Given the description of an element on the screen output the (x, y) to click on. 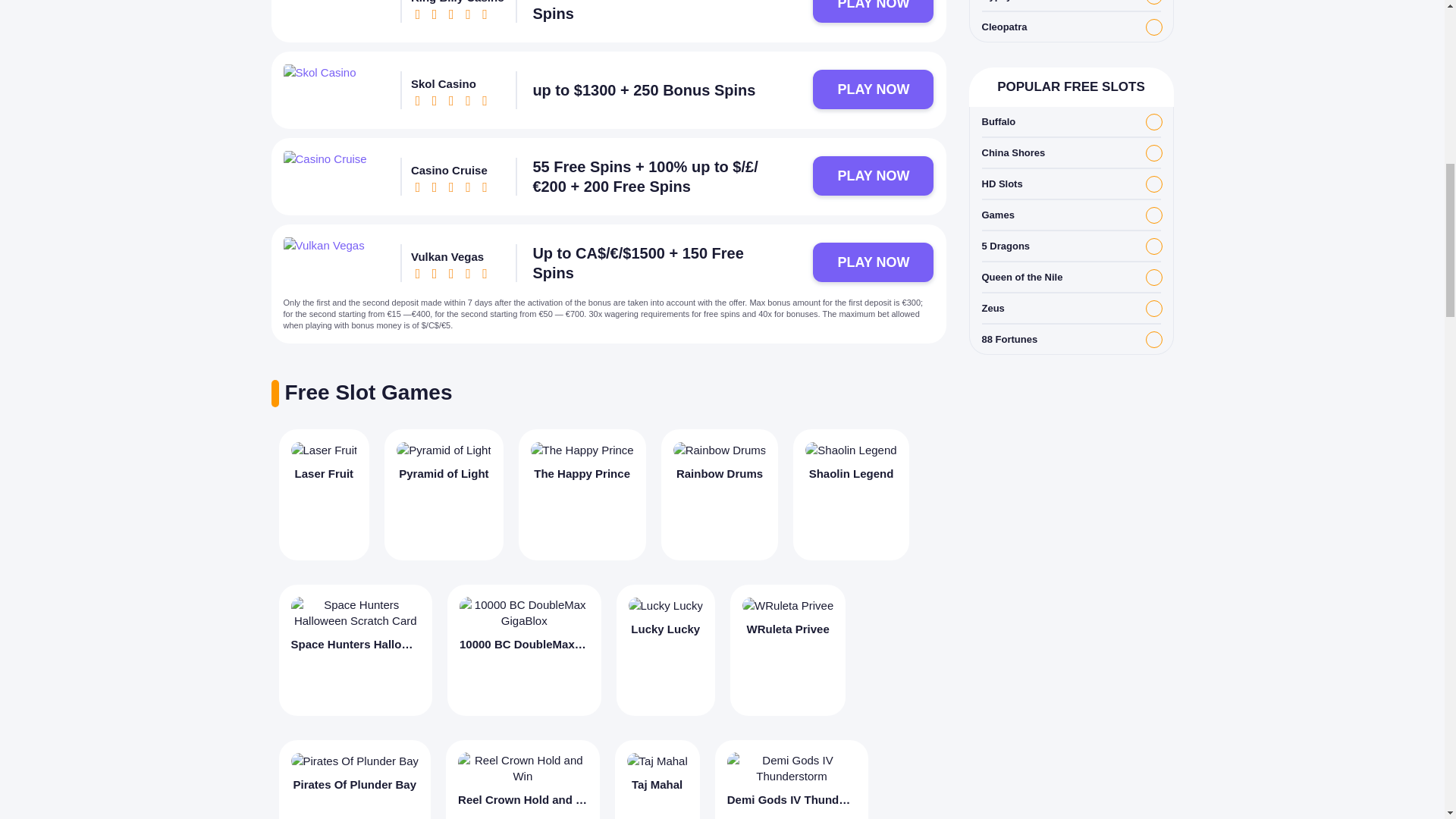
WRuleta Privee (787, 649)
Lucky Lucky (664, 649)
Space-Hunters-Halloween-Scratch-Card (355, 612)
Lucky-Lucky-KA-Gaming (665, 605)
Shaolin-Legend (850, 449)
Rainbow-Drums-Pull-Tabs (719, 449)
Laser Fruit (324, 494)
10000 BC DoubleMax GigaBlox (523, 649)
The-Happy-Prince (582, 449)
Shaolin Legend (850, 494)
Laser-Fruit (324, 449)
Space Hunters Halloween Scratch Card (355, 649)
Rainbow Drums (719, 494)
Pyramid-of-Light (443, 449)
Pyramid of Light (443, 494)
